Given the description of an element on the screen output the (x, y) to click on. 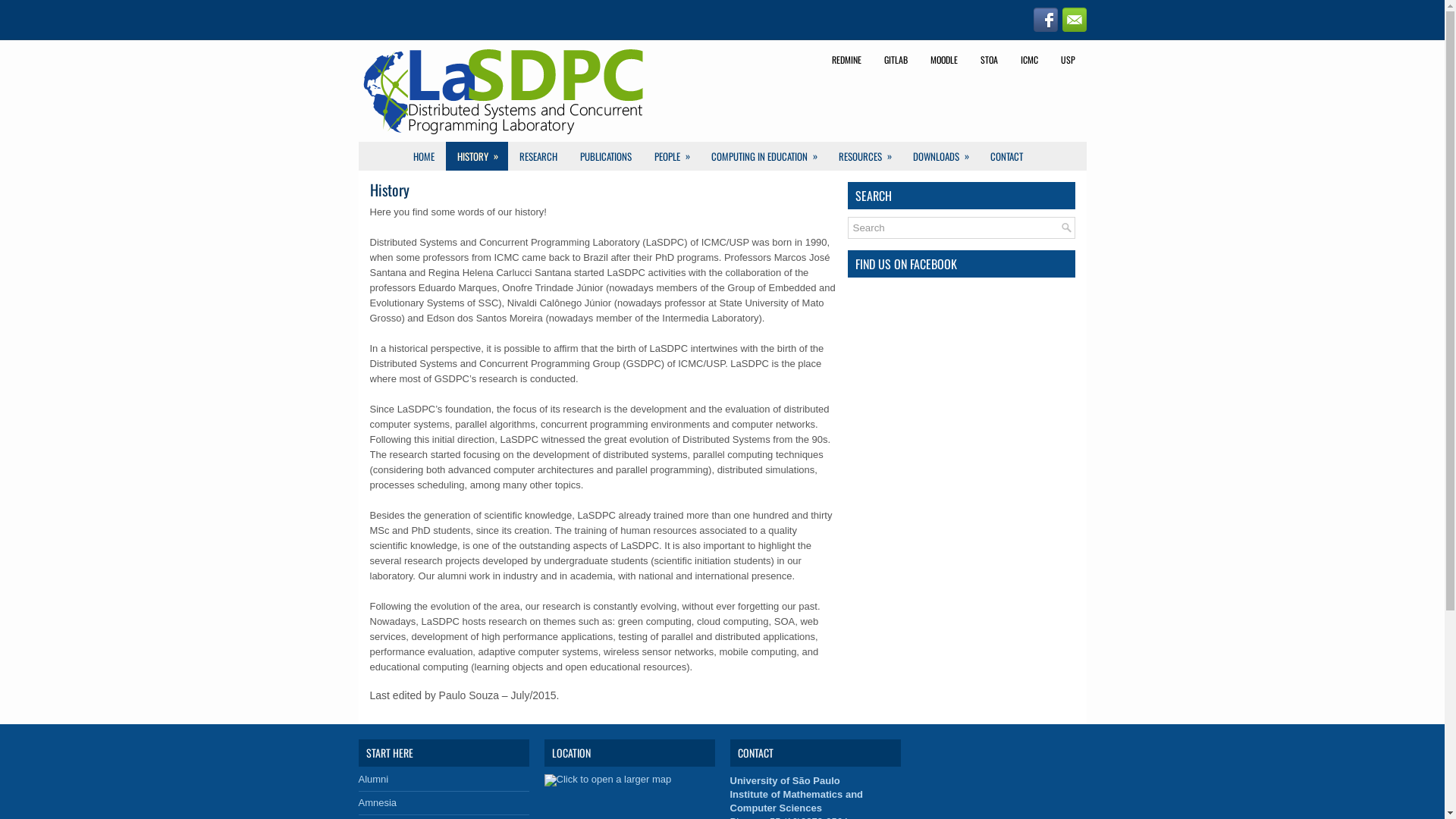
STOA Element type: text (989, 59)
HOME Element type: text (423, 155)
Email Element type: hover (1073, 19)
Amnesia Element type: text (376, 802)
ICMC Element type: text (1028, 59)
Facebook Element type: hover (1044, 19)
RESEARCH Element type: text (538, 155)
GITLAB Element type: text (895, 59)
Click to open a larger map Element type: hover (607, 780)
Type and hit enter Element type: hover (961, 227)
Alumni Element type: text (372, 778)
Click to open a larger map Element type: hover (607, 778)
CONTACT Element type: text (1005, 155)
LaSDPC Element type: hover (504, 92)
PUBLICATIONS Element type: text (605, 155)
USP Element type: text (1067, 59)
MOODLE Element type: text (944, 59)
REDMINE Element type: text (846, 59)
